Given the description of an element on the screen output the (x, y) to click on. 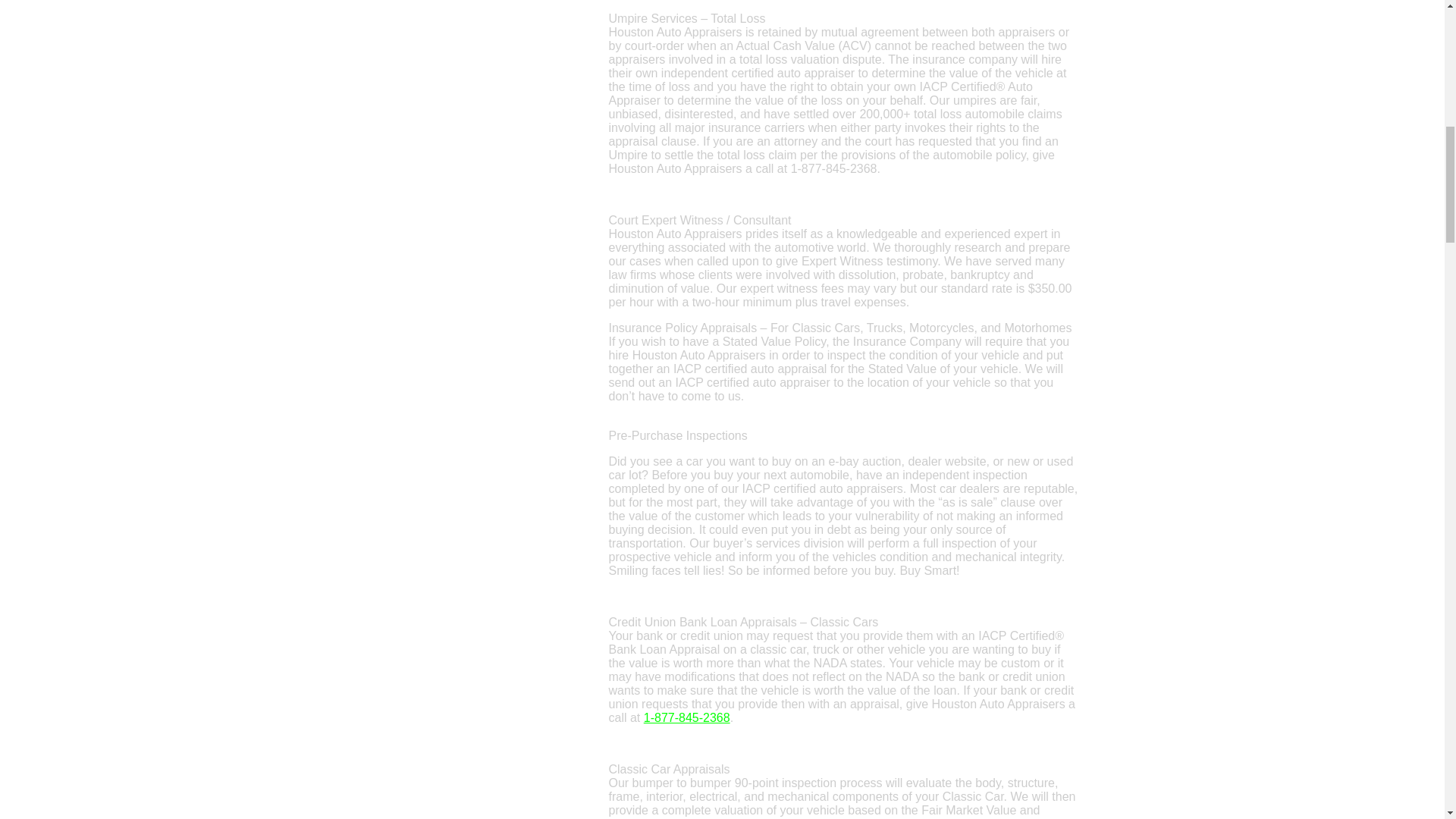
1-877-845-2368 (686, 717)
